Given the description of an element on the screen output the (x, y) to click on. 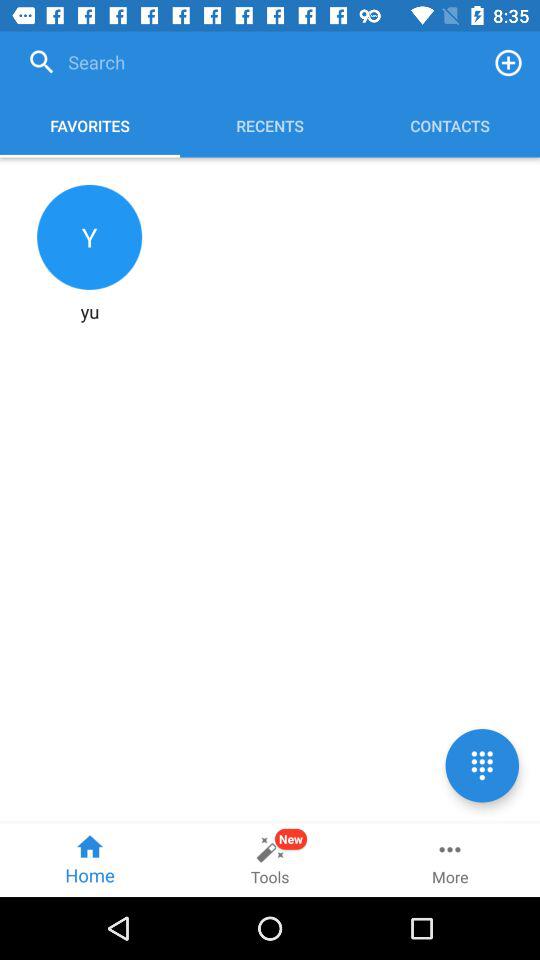
add favorites (508, 62)
